Given the description of an element on the screen output the (x, y) to click on. 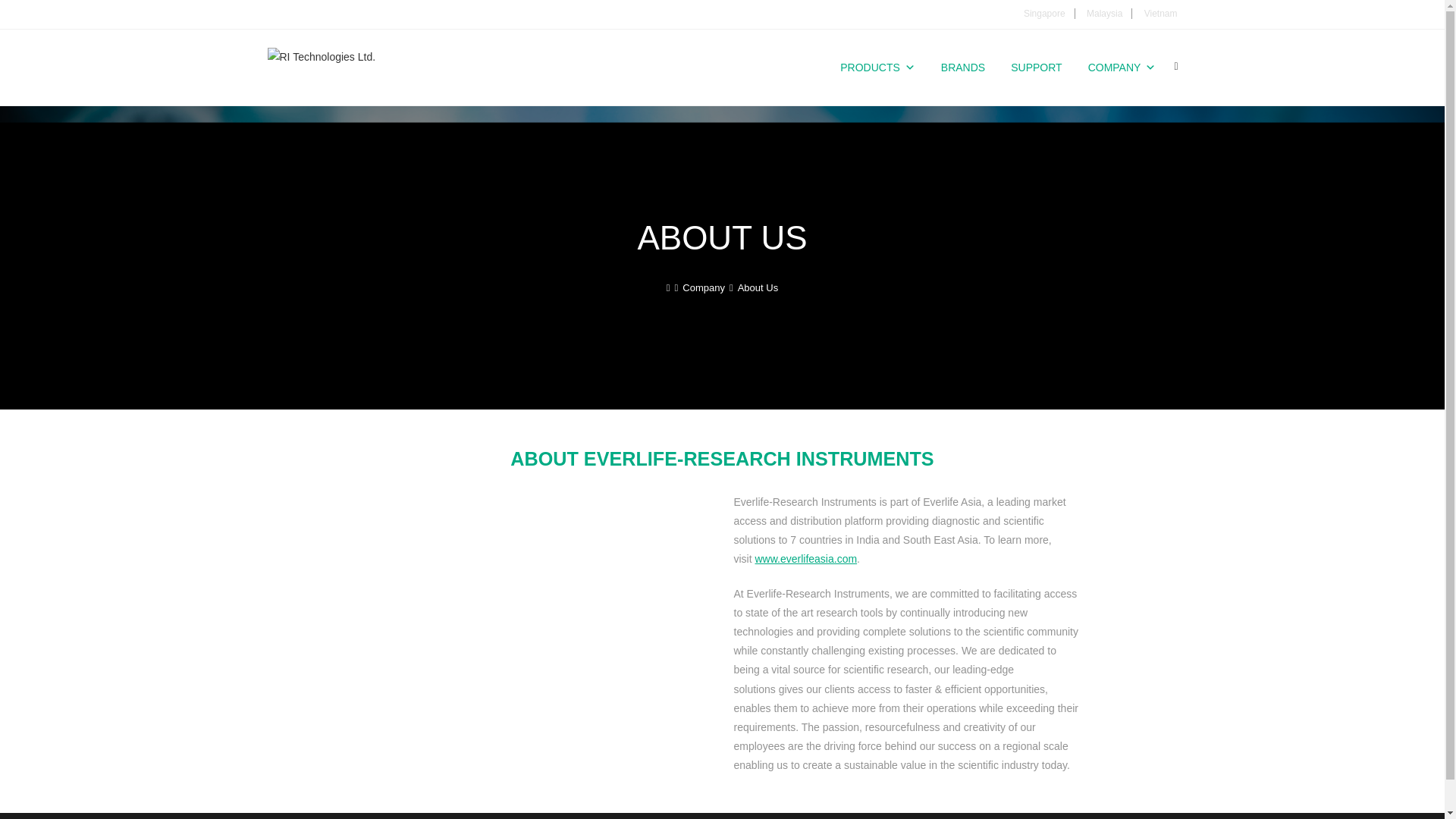
PRODUCTS (877, 67)
Company (703, 287)
COMPANY (1121, 67)
Malaysia (1104, 13)
www.everlifeasia.com (806, 558)
Vietnam (1160, 13)
Singapore (1044, 13)
